Given the description of an element on the screen output the (x, y) to click on. 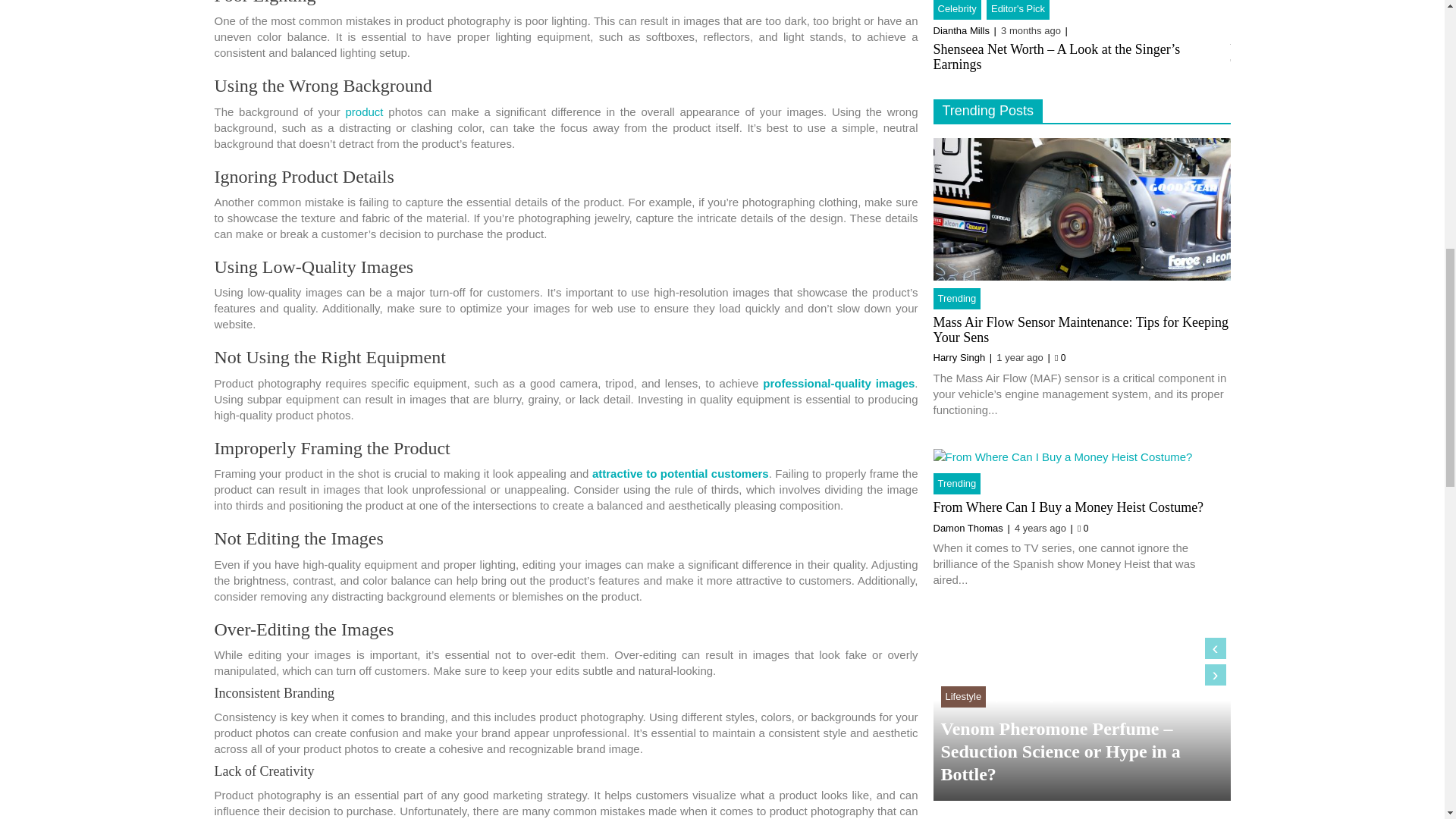
attractive to potential customers (680, 472)
professional-quality images (838, 382)
product (363, 111)
